Given the description of an element on the screen output the (x, y) to click on. 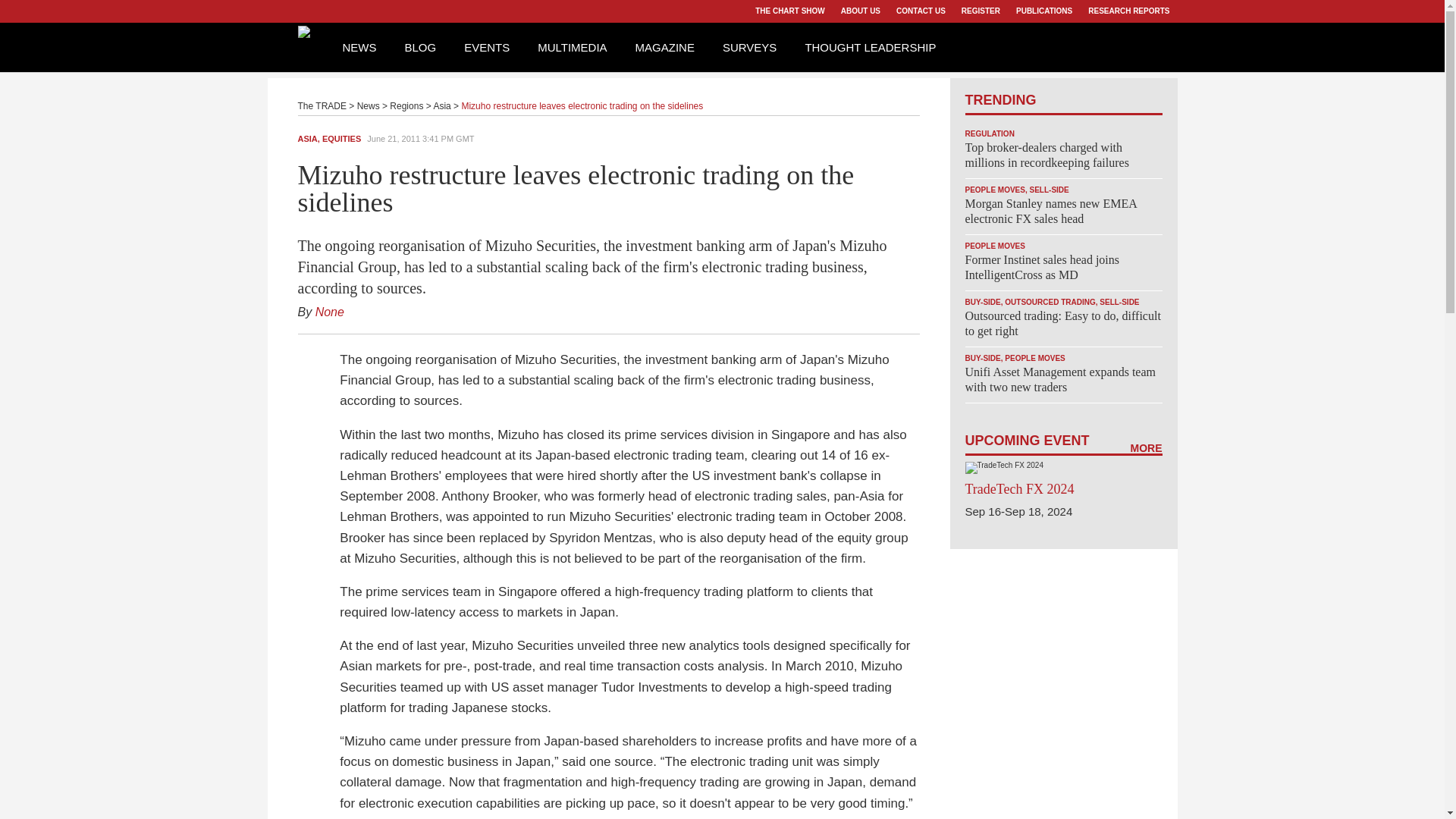
Go to the News Category archives. (368, 105)
REGISTER (980, 11)
Go to the Asia Category archives. (440, 105)
Go to the Regions Category archives. (406, 105)
ABOUT US (860, 11)
PUBLICATIONS (1043, 11)
THE CHART SHOW (789, 11)
Go to The TRADE. (321, 105)
CONTACT US (920, 11)
